Given the description of an element on the screen output the (x, y) to click on. 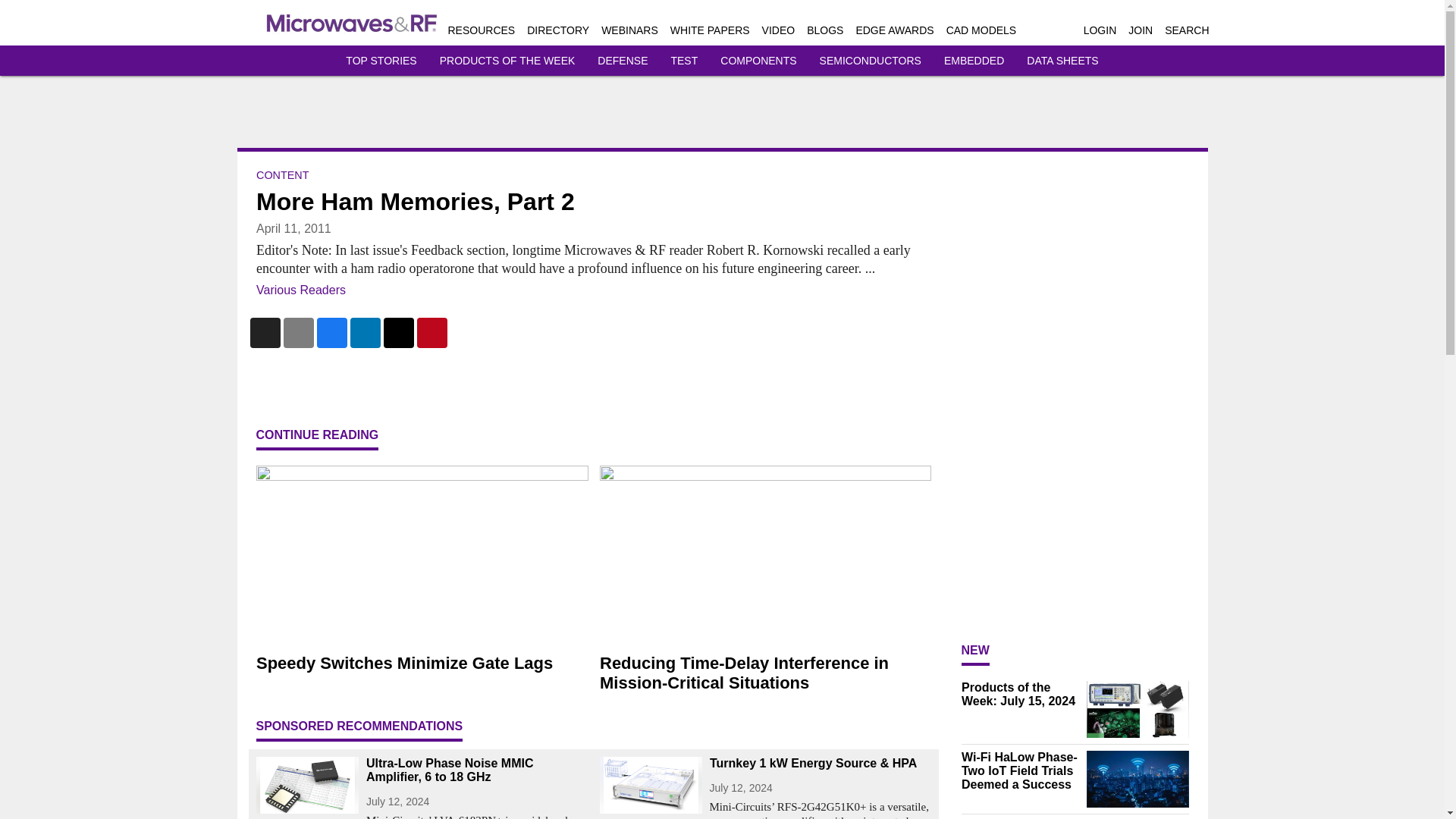
TOP STORIES (381, 60)
VIDEO (777, 30)
SEMICONDUCTORS (870, 60)
DATA SHEETS (1061, 60)
JOIN (1140, 30)
WHITE PAPERS (709, 30)
RESOURCES (480, 30)
BLOGS (824, 30)
DIRECTORY (558, 30)
DEFENSE (621, 60)
EMBEDDED (973, 60)
LOGIN (1099, 30)
TEST (683, 60)
COMPONENTS (758, 60)
SEARCH (1186, 30)
